Given the description of an element on the screen output the (x, y) to click on. 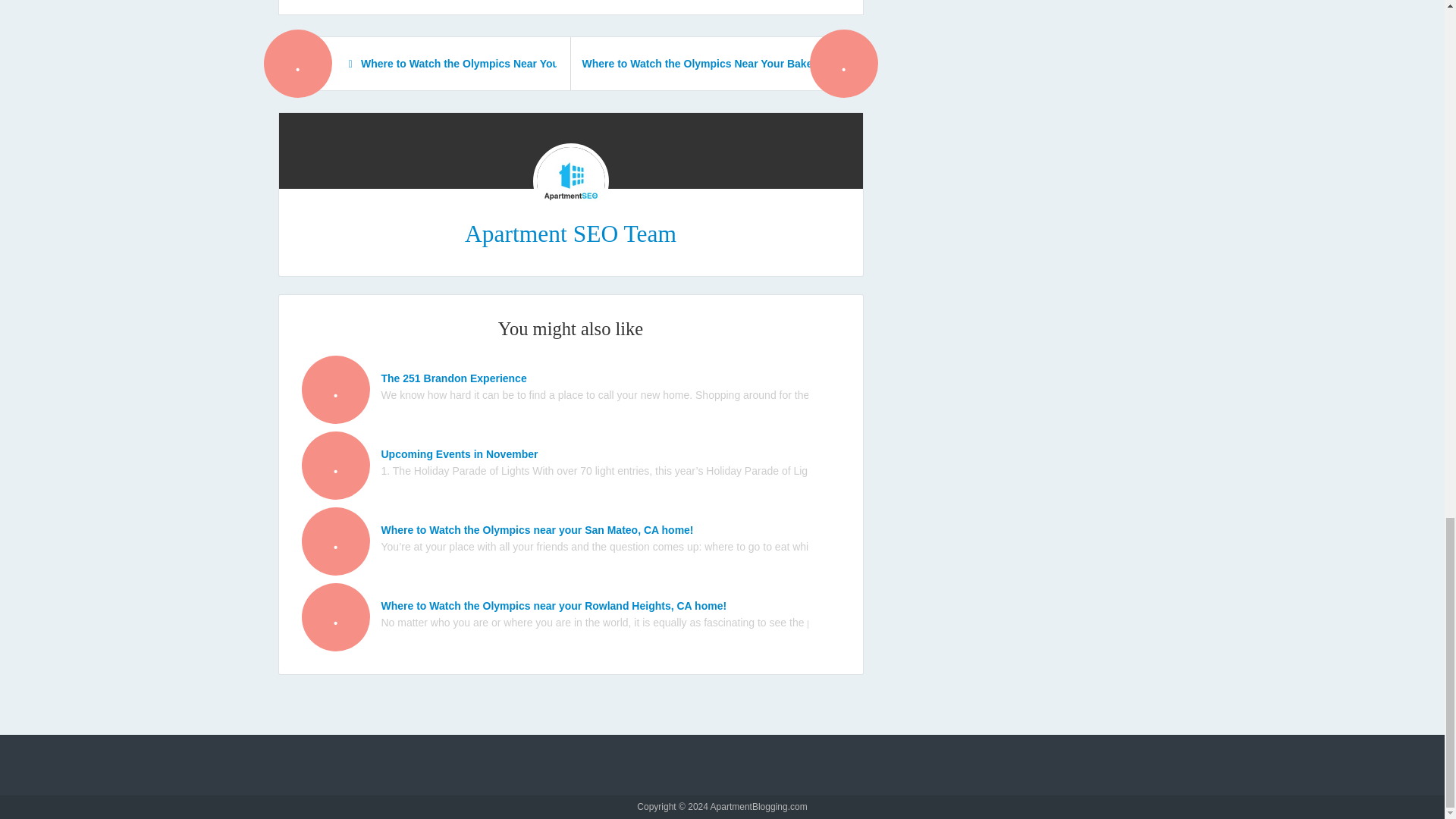
Posts by Apartment SEO Team (570, 233)
Apartment SEO Team (570, 233)
    Where to Watch the Olympics Near Your San Pedro, CA Home (433, 63)
